Given the description of an element on the screen output the (x, y) to click on. 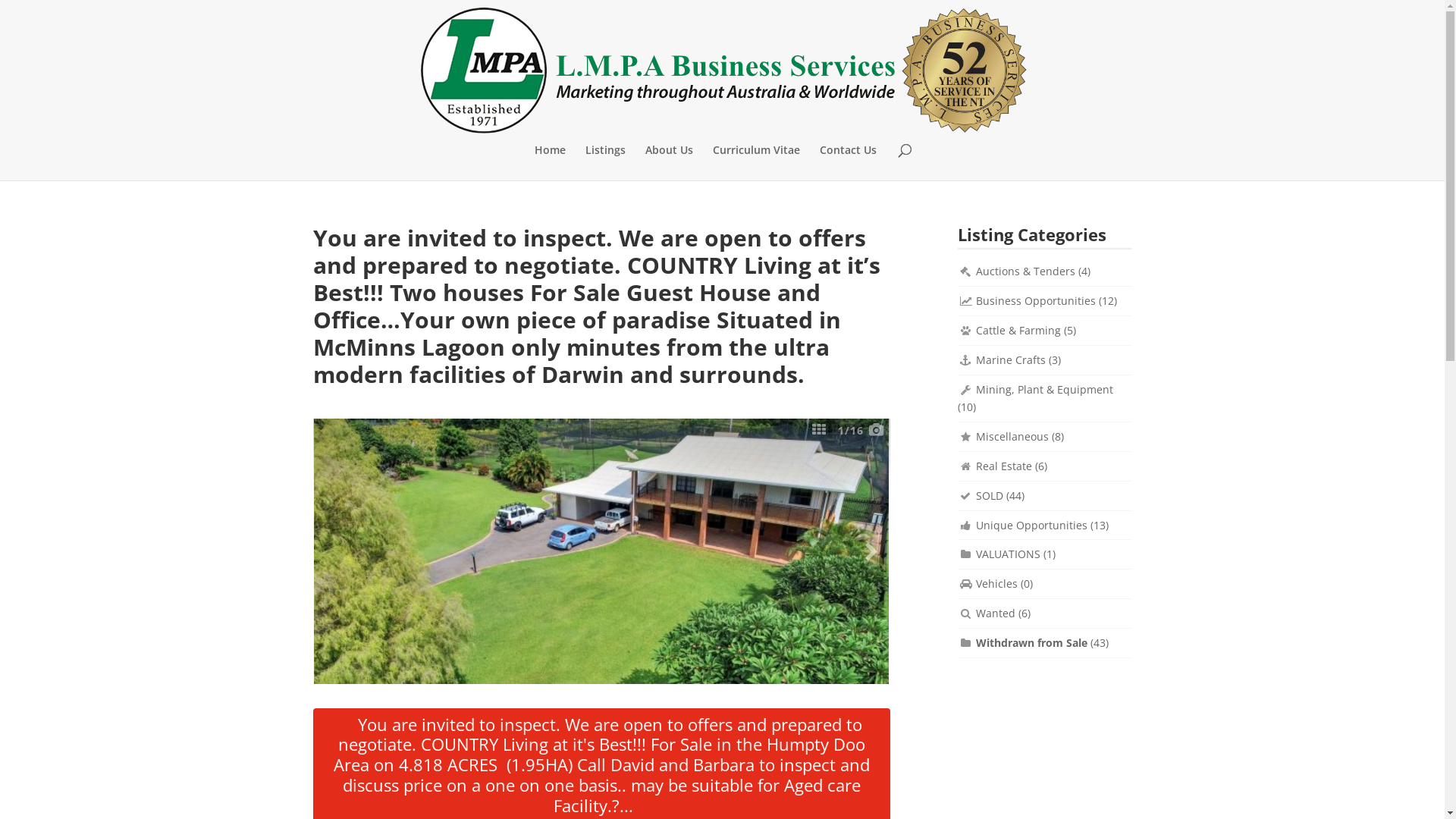
Unique Opportunities Element type: text (1031, 524)
Withdrawn from Sale Element type: text (1031, 642)
Real Estate Element type: text (1003, 465)
VALUATIONS Element type: text (1007, 553)
Next Element type: hover (869, 550)
About Us Element type: text (669, 162)
Auctions & Tenders Element type: text (1025, 270)
Curriculum Vitae Element type: text (756, 162)
Marine Crafts Element type: text (1010, 359)
Total Files Element type: hover (875, 429)
SOLD Element type: text (989, 495)
Miscellaneous Element type: text (1011, 436)
Cattle & Farming Element type: text (1017, 330)
Business Opportunities Element type: text (1035, 300)
Contact Us Element type: text (847, 162)
Home Element type: text (549, 162)
Vehicles Element type: text (996, 583)
Mining, Plant & Equipment Element type: text (1044, 389)
Wanted Element type: text (995, 612)
Listings Element type: text (605, 162)
Show Thumbnails ... Element type: hover (818, 429)
